Given the description of an element on the screen output the (x, y) to click on. 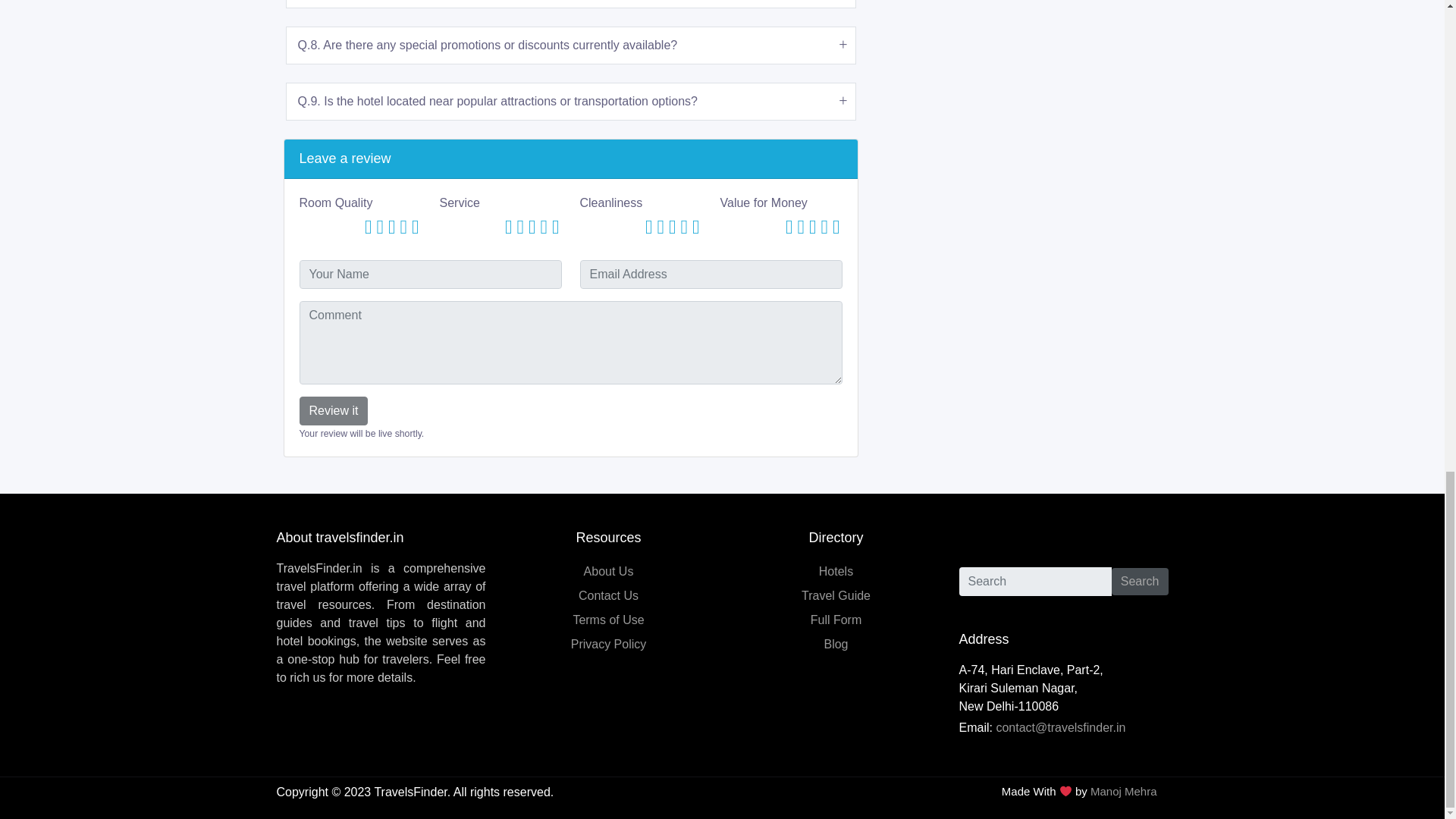
Q.7. What is the hotel's cancellation policy? (571, 4)
Full Form (835, 619)
Terms of Use (607, 619)
Manoj Mehra (1123, 790)
Hotels (835, 571)
Search (1140, 581)
Blog (835, 644)
TravelsFinder (410, 791)
About Us (608, 571)
Contact Us (608, 594)
Travel Guide (836, 594)
Privacy Policy (608, 644)
Review it (333, 410)
